Given the description of an element on the screen output the (x, y) to click on. 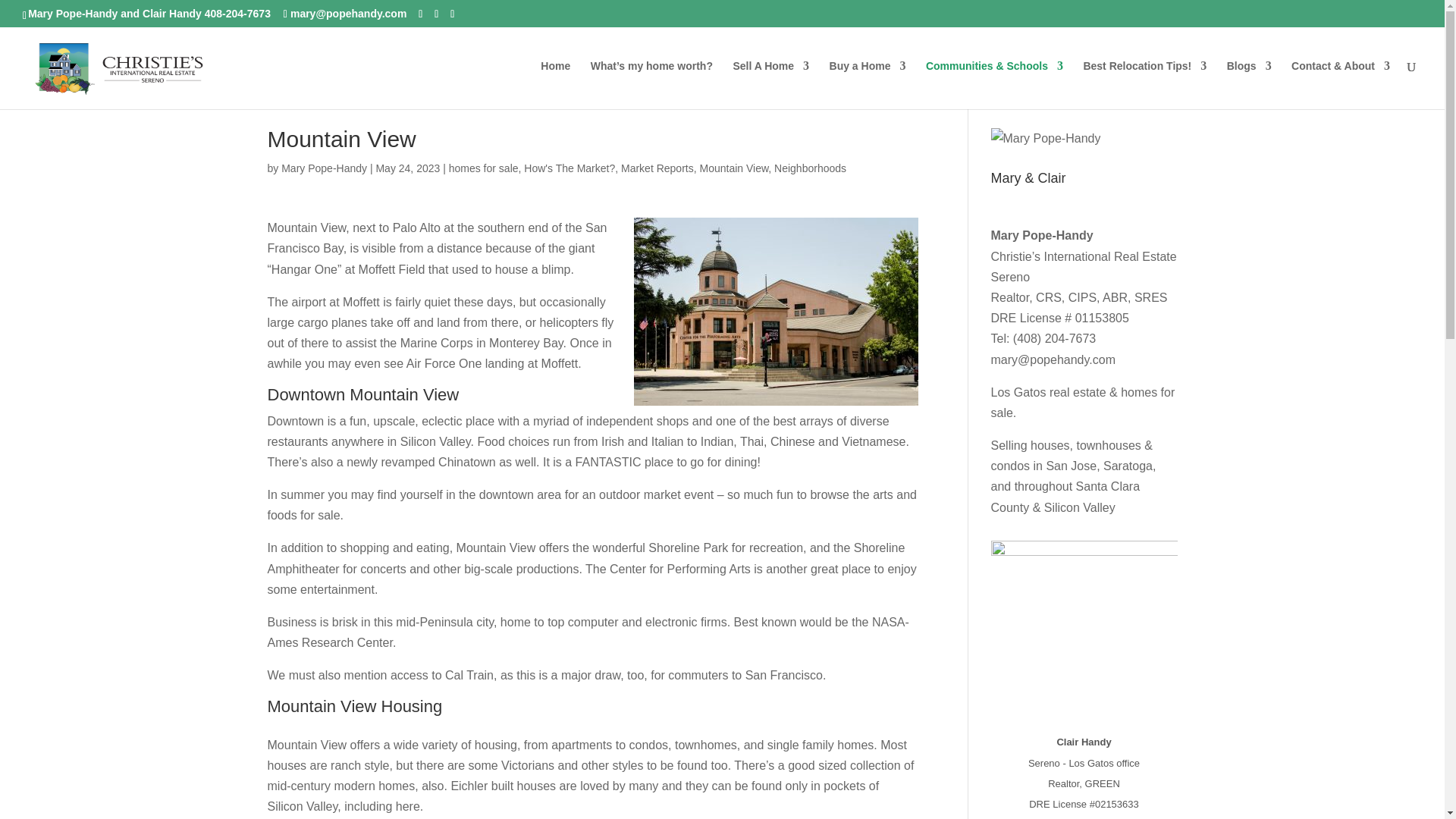
Sell A Home (770, 84)
Buy a Home (867, 84)
Posts by Mary Pope-Handy (323, 168)
